Given the description of an element on the screen output the (x, y) to click on. 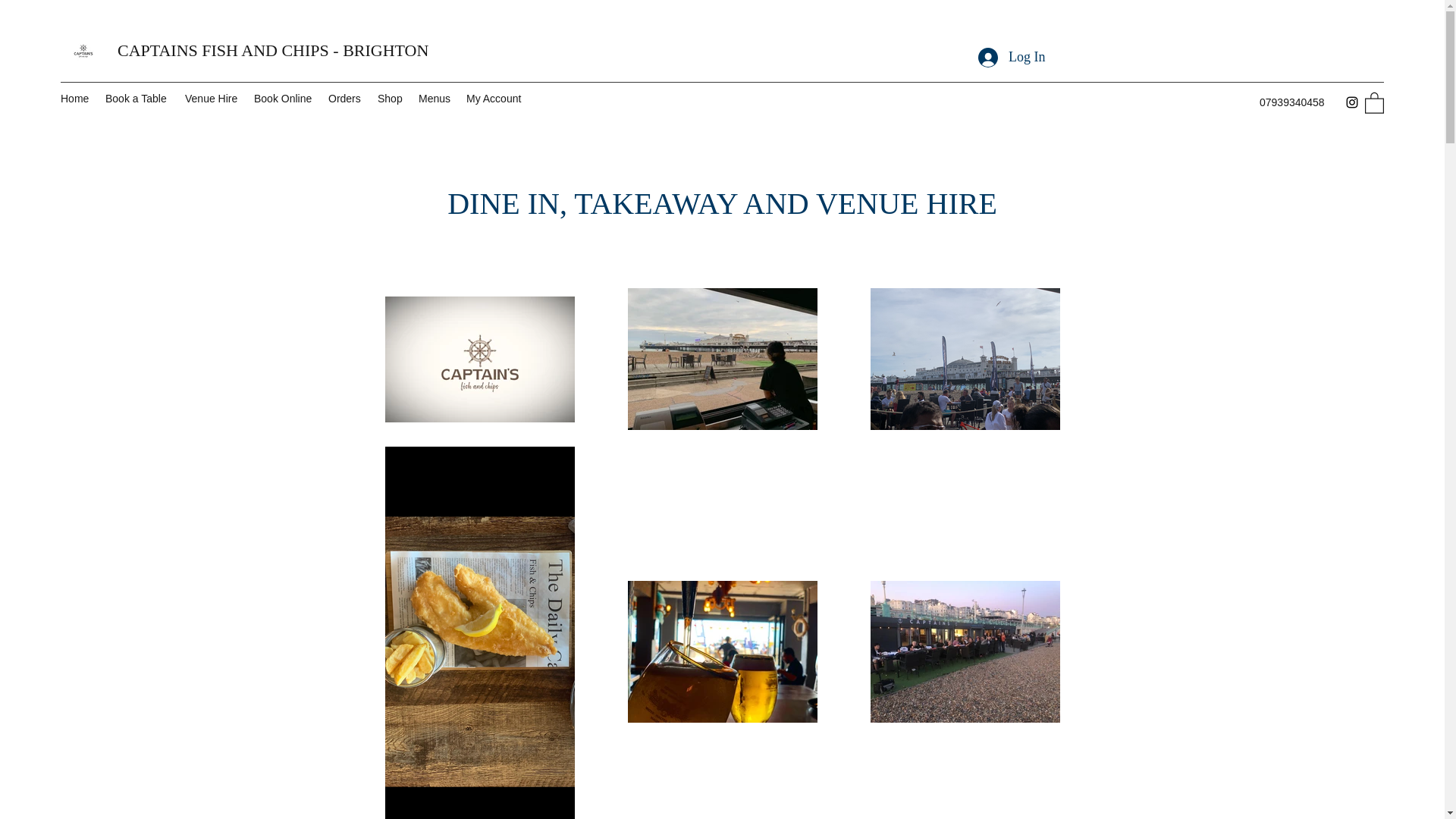
Book a Table (137, 97)
My Account (495, 97)
CAPTAINS FISH AND CHIPS - BRIGHTON (272, 49)
Orders (344, 97)
Log In (1012, 57)
Shop (389, 97)
Book Online (283, 97)
Menus (434, 97)
Venue Hire (211, 97)
Home (74, 97)
